Given the description of an element on the screen output the (x, y) to click on. 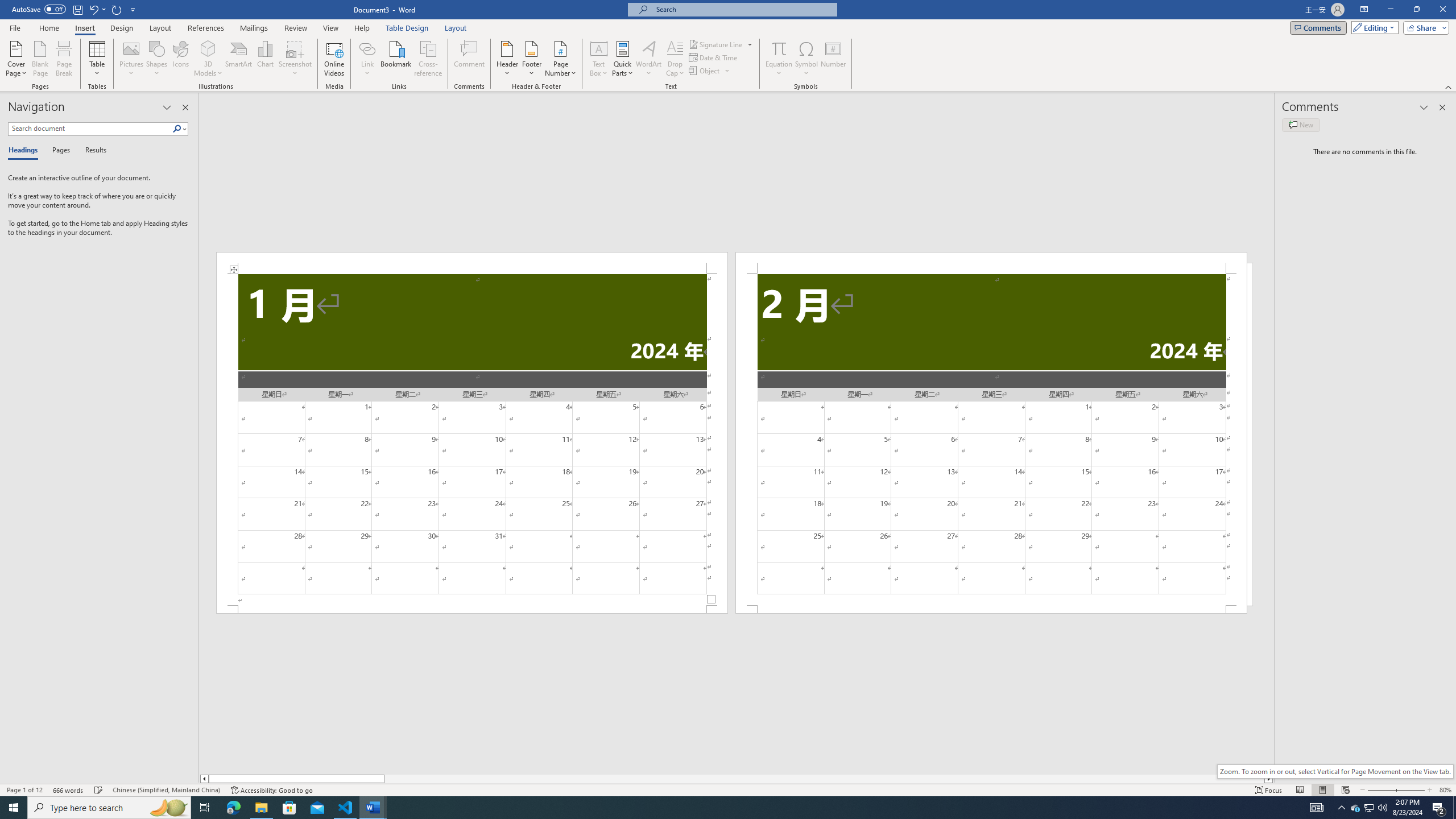
Object... (705, 69)
Online Videos... (333, 58)
Footer (531, 58)
Screenshot (295, 58)
